Given the description of an element on the screen output the (x, y) to click on. 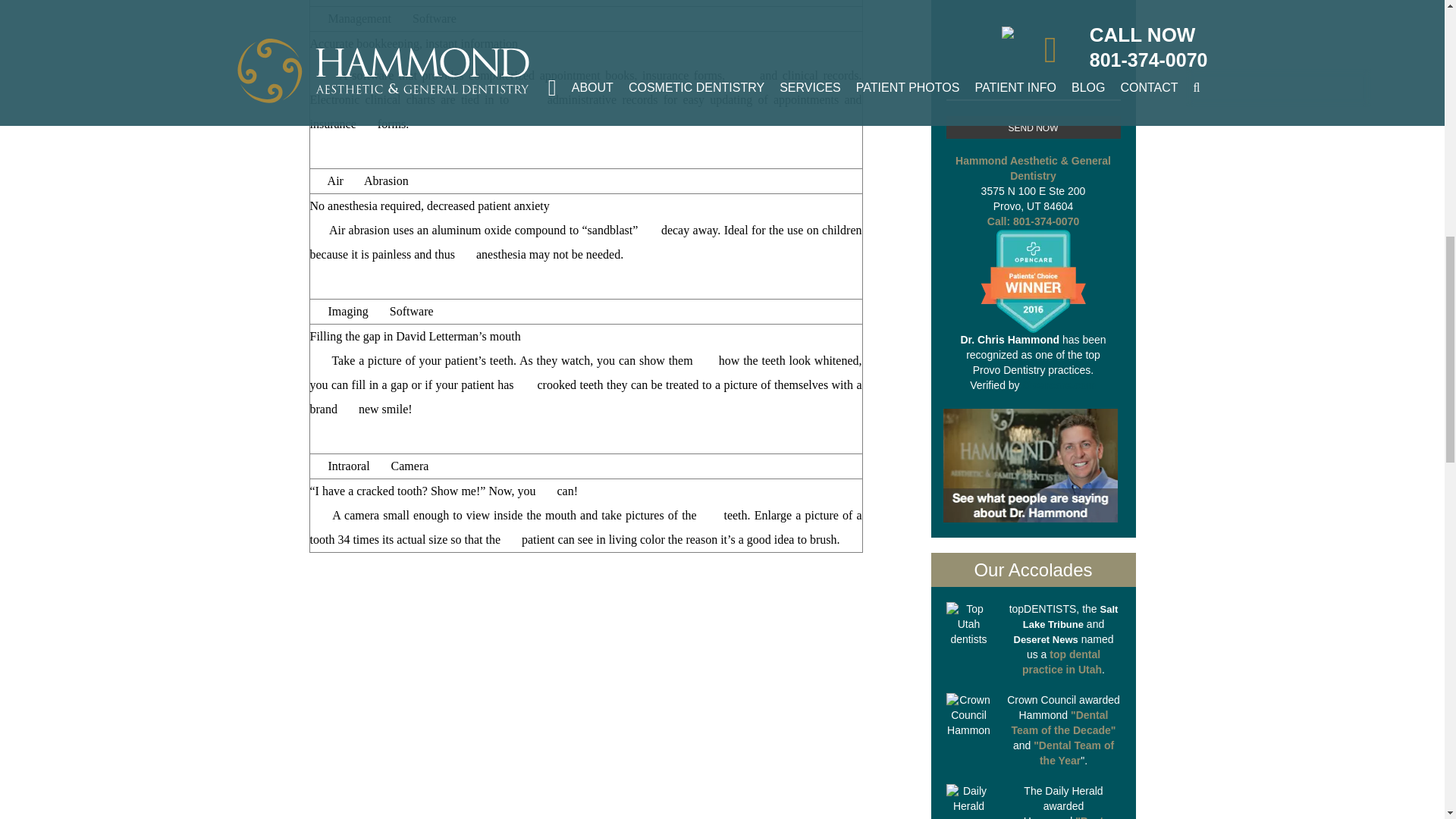
DailyHerald (968, 801)
CrownCouncil (968, 715)
Send Now (1033, 127)
TopDentists (968, 624)
